Given the description of an element on the screen output the (x, y) to click on. 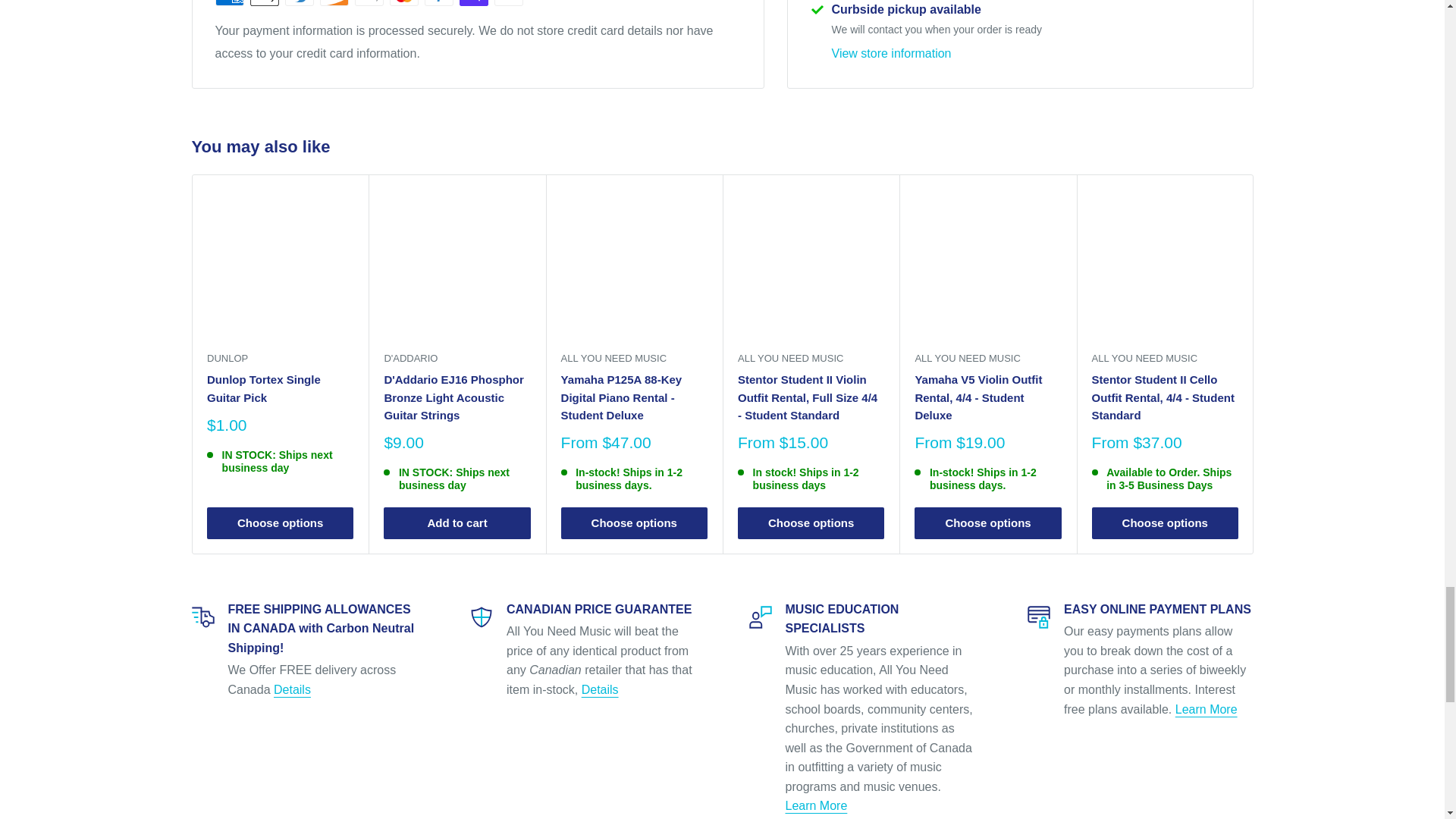
Music Education Department (816, 805)
Canadian Price Match Guarantee (599, 689)
Shipping Policy (292, 689)
